Given the description of an element on the screen output the (x, y) to click on. 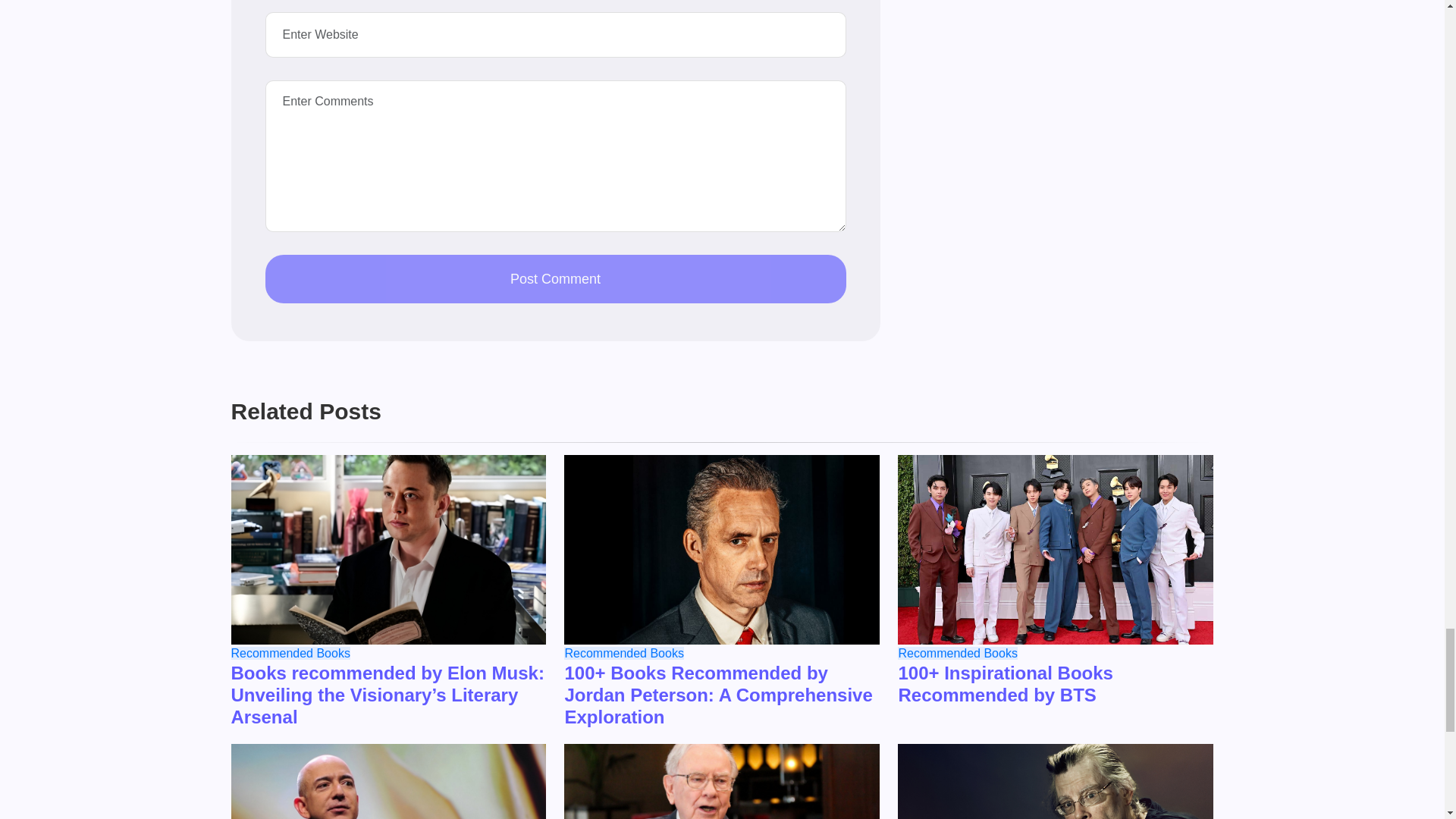
Post Comment (554, 278)
